Given the description of an element on the screen output the (x, y) to click on. 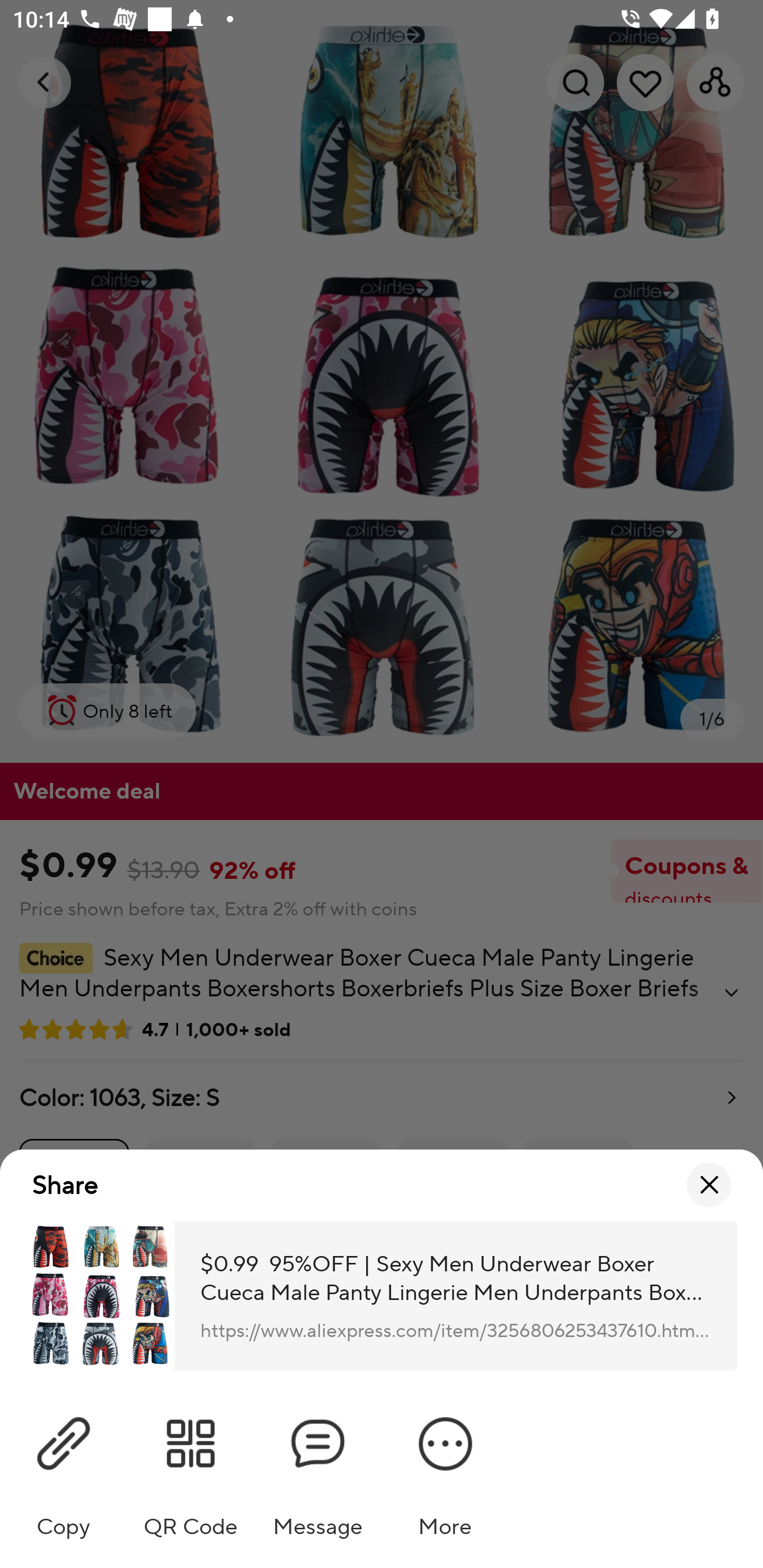
 (708, 1185)
Copy (63, 1469)
QR Code (190, 1469)
Message (317, 1469)
More (444, 1469)
